Given the description of an element on the screen output the (x, y) to click on. 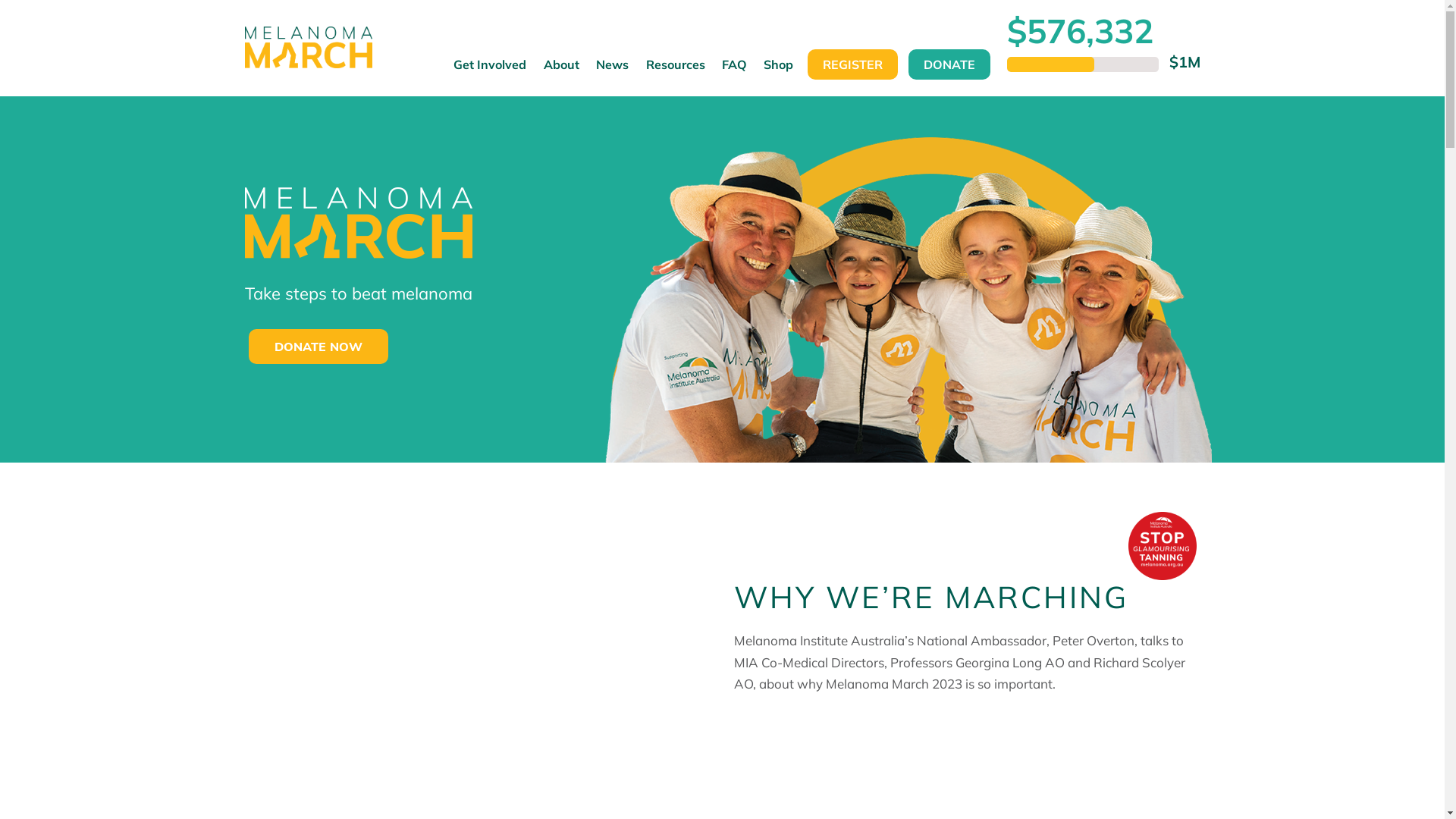
About Element type: text (561, 71)
REGISTER Element type: text (851, 64)
Get Involved Element type: text (489, 71)
FAQ Element type: text (734, 71)
DONATE NOW Element type: text (318, 346)
News Element type: text (612, 71)
Shop Element type: text (778, 71)
Resources Element type: text (674, 71)
DONATE Element type: text (949, 64)
$576,332 Element type: text (1080, 30)
